Given the description of an element on the screen output the (x, y) to click on. 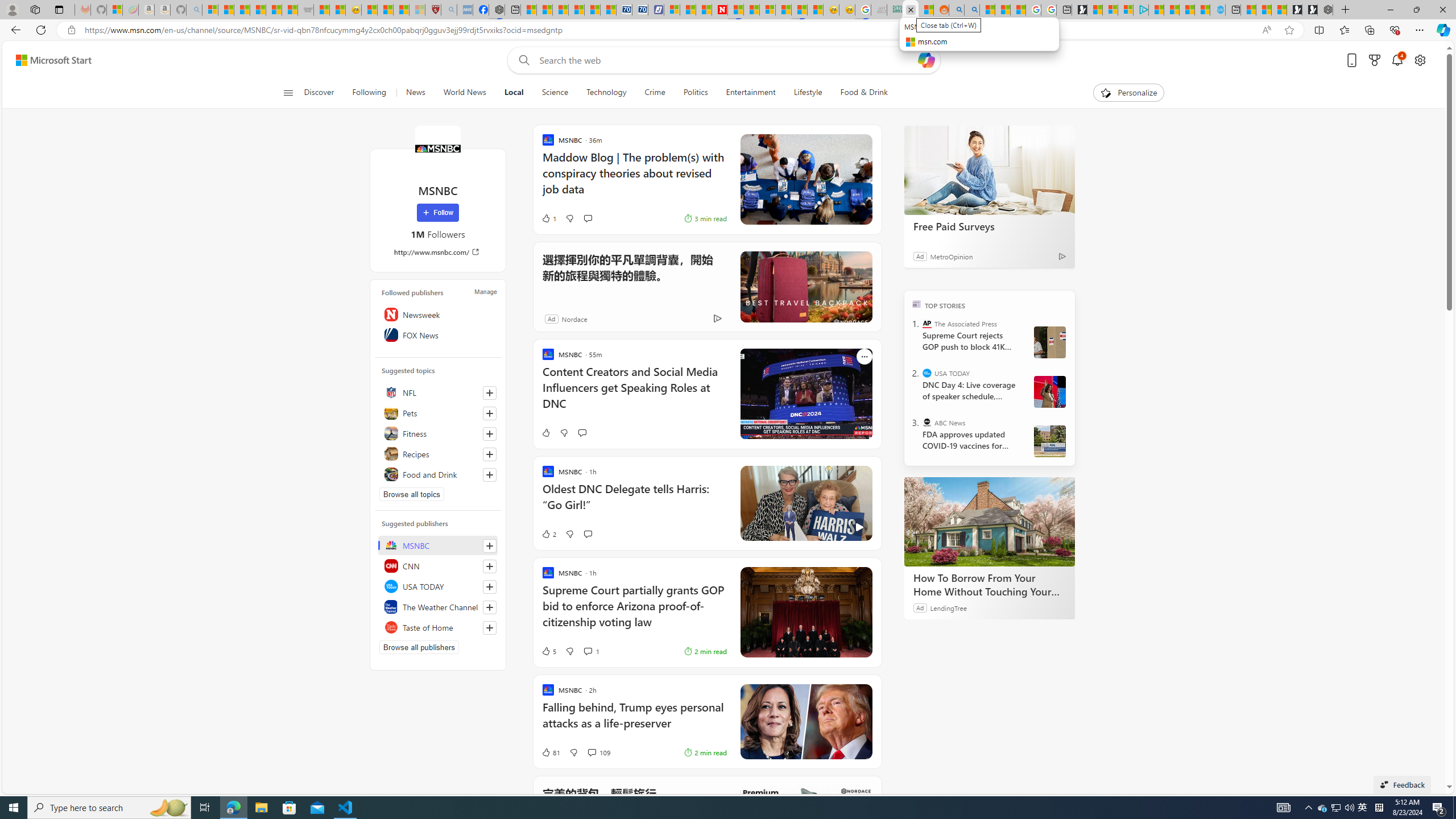
Politics (694, 92)
Local (513, 92)
http://www.msnbc.com/ (438, 251)
Recipes - MSN (368, 9)
